Given the description of an element on the screen output the (x, y) to click on. 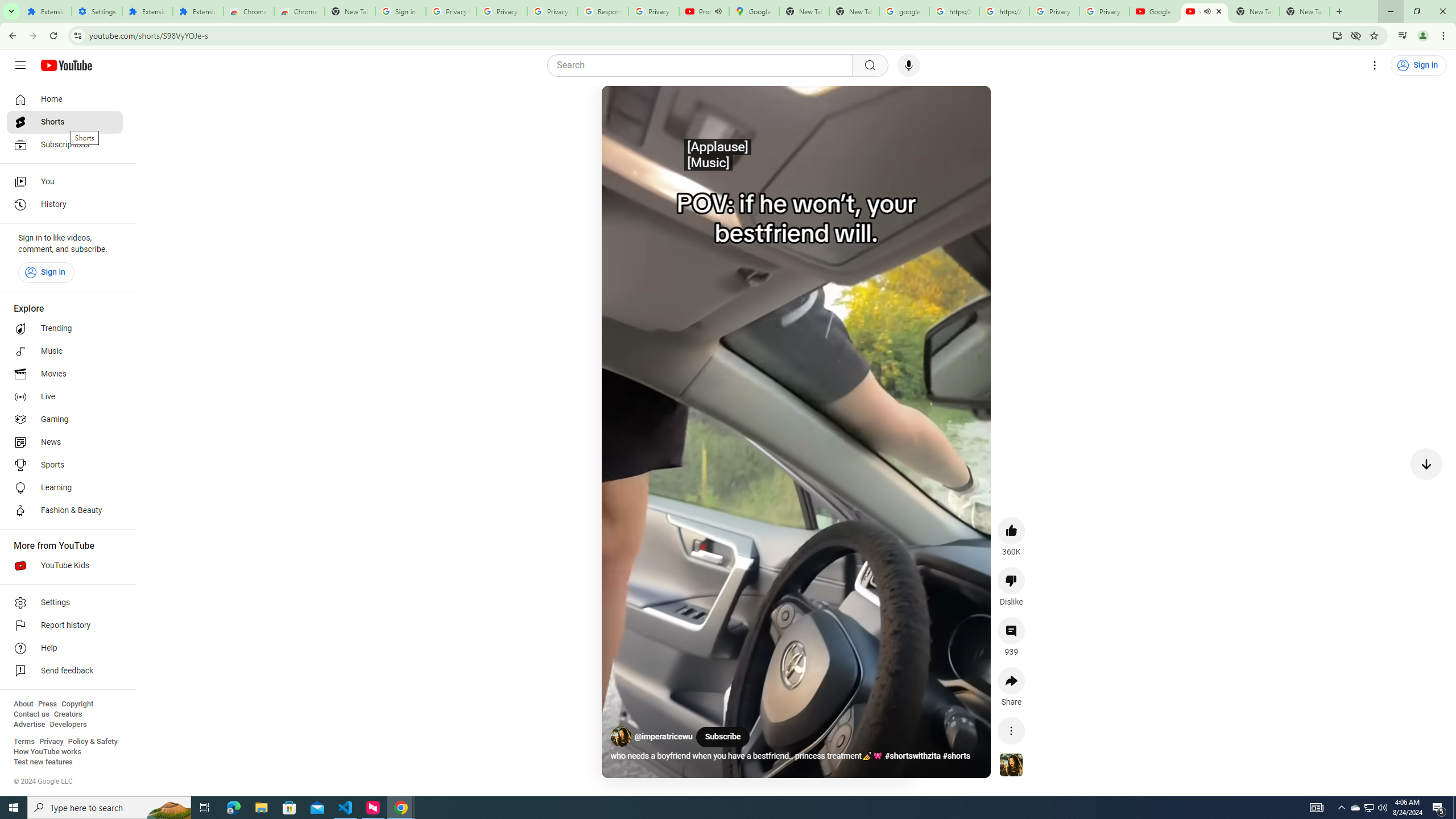
Test new features (42, 761)
Advertise (29, 724)
YouTube Home (66, 65)
Extensions (146, 11)
Google - YouTube (1154, 11)
Chrome Web Store (248, 11)
Home (64, 99)
Trending (64, 328)
Chrome Web Store - Themes (299, 11)
https://scholar.google.com/ (1004, 11)
